Given the description of an element on the screen output the (x, y) to click on. 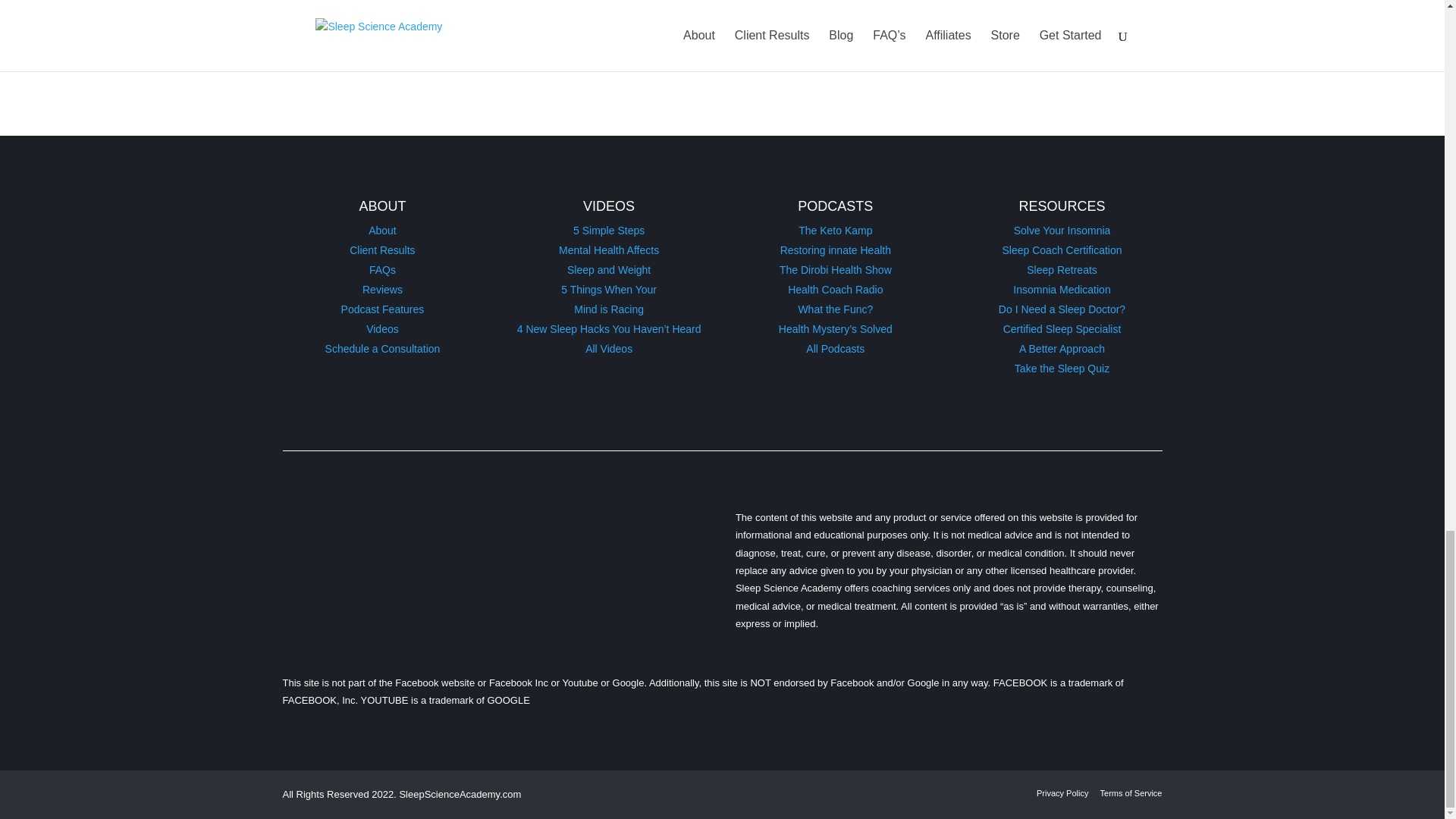
Do I Need a Sleep Doctor? (1061, 309)
What the Func? (834, 309)
Mental Health Affects (609, 250)
Follow on Facebook (1118, 55)
Schedule a Consultation (382, 348)
ssa-white-small (427, 546)
The Keto Kamp (834, 230)
All Podcasts (835, 348)
Videos (382, 328)
Privacy Policy (1061, 792)
